Given the description of an element on the screen output the (x, y) to click on. 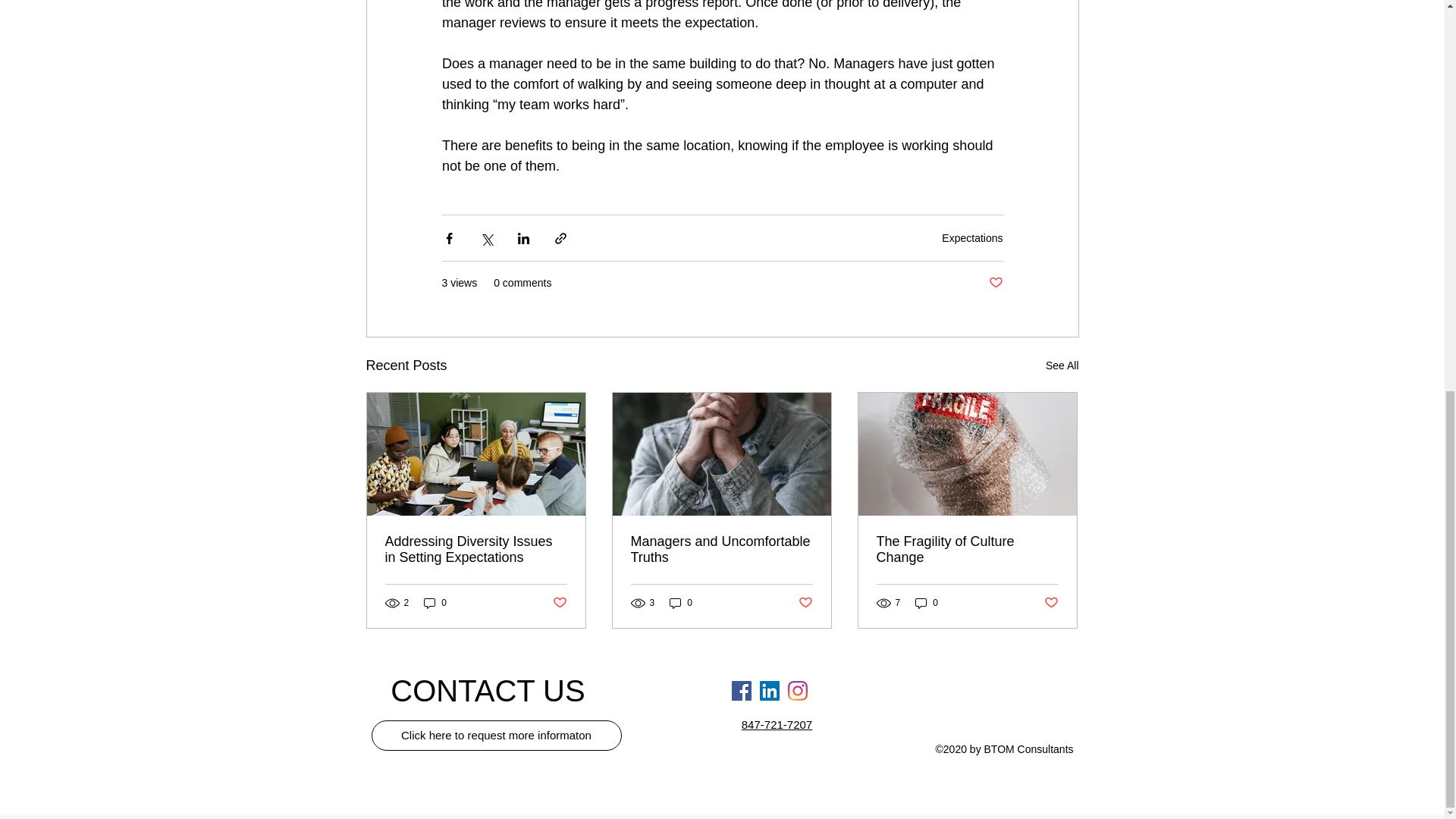
Addressing Diversity Issues in Setting Expectations (476, 549)
See All (1061, 365)
Expectations (972, 237)
Post not marked as liked (995, 283)
Post not marked as liked (558, 602)
0 (435, 603)
